Given the description of an element on the screen output the (x, y) to click on. 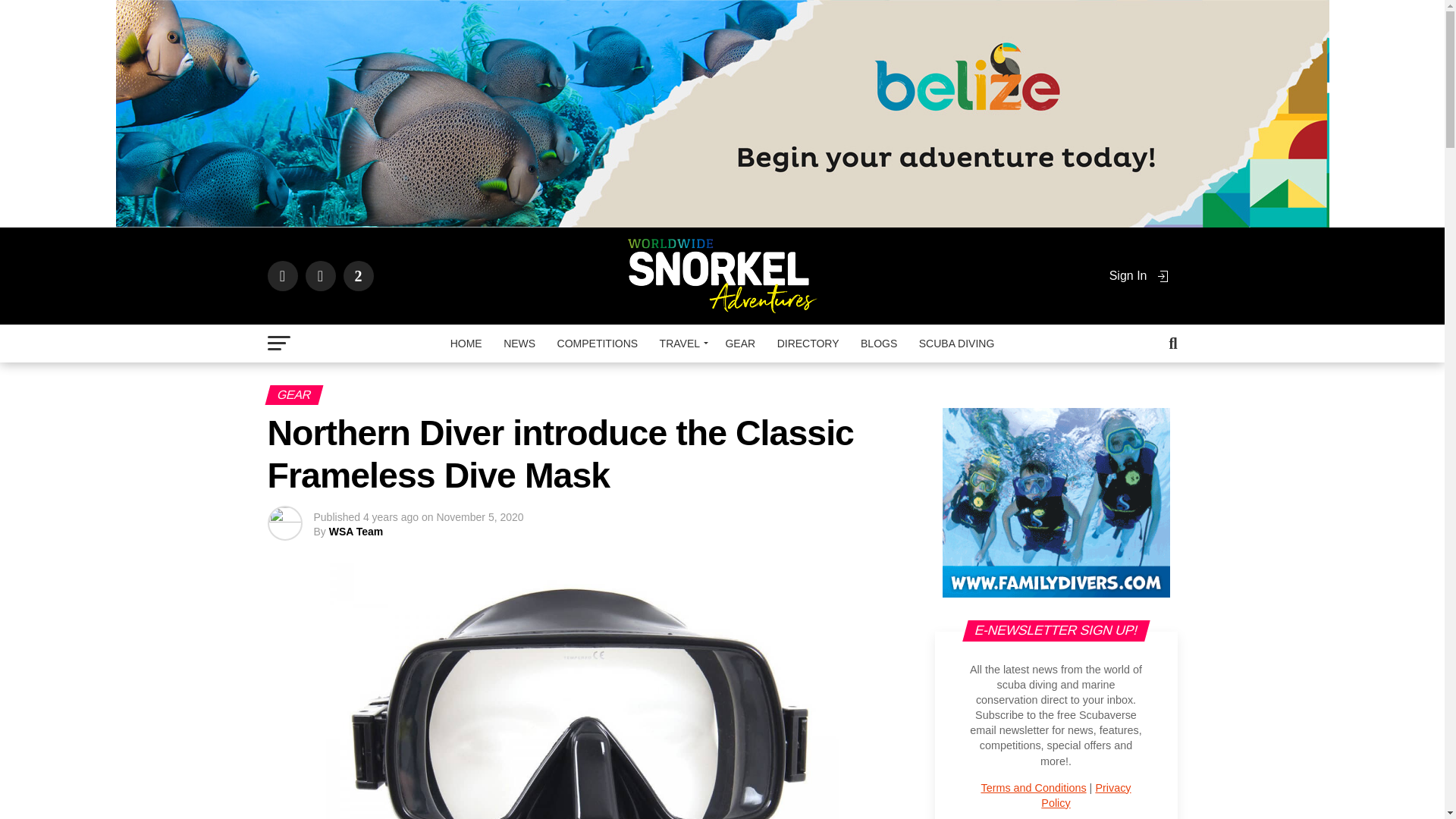
NEWS (519, 343)
Sign In (1139, 275)
Posts by WSA Team (356, 531)
GEAR (740, 343)
HOME (466, 343)
Sign in (1139, 275)
TRAVEL (681, 343)
COMPETITIONS (597, 343)
